Given the description of an element on the screen output the (x, y) to click on. 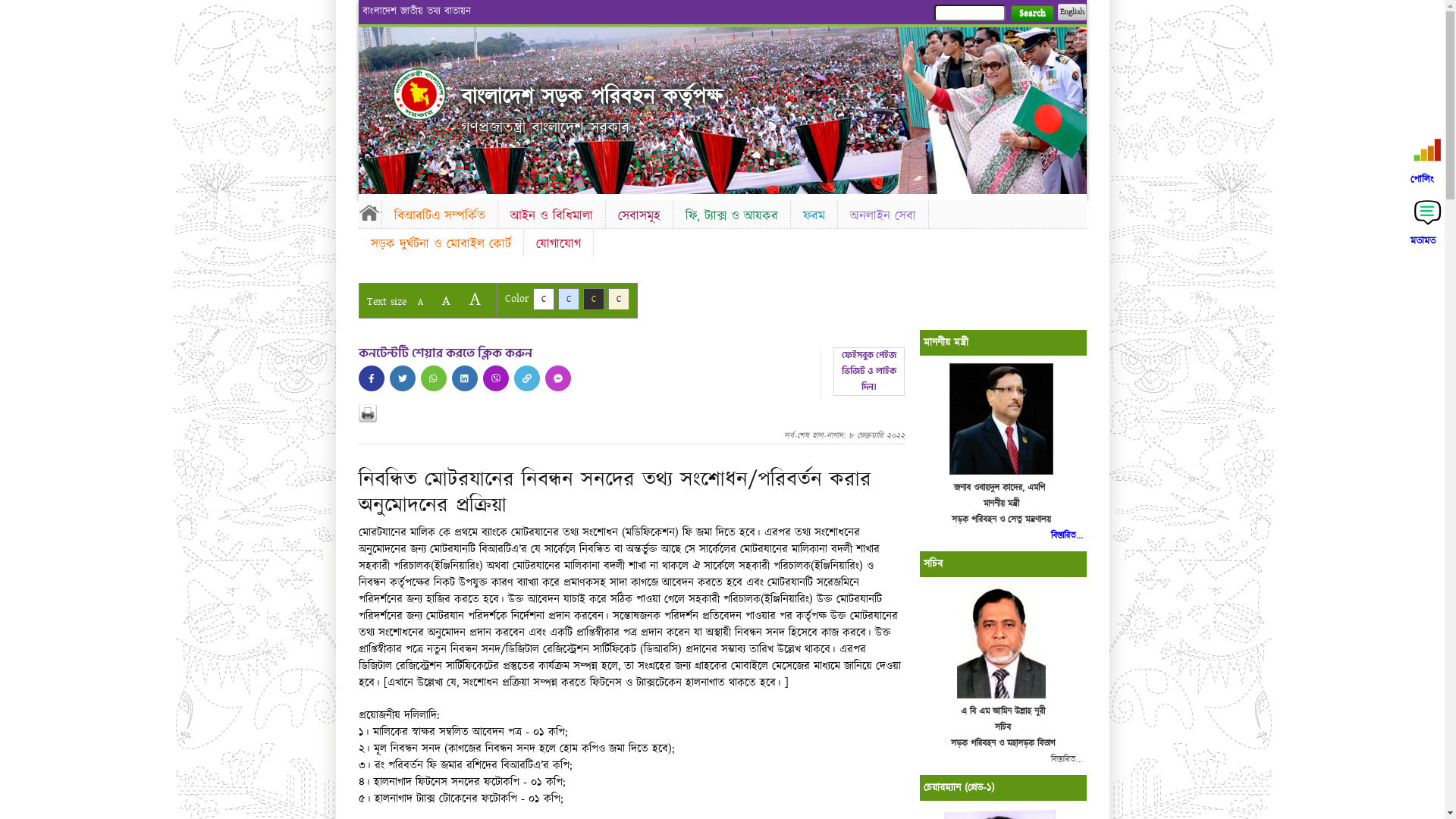
A Element type: text (474, 298)
Home Element type: hover (418, 93)
Home Element type: hover (368, 211)
C Element type: text (618, 299)
A Element type: text (419, 301)
C Element type: text (568, 299)
Search Element type: text (1031, 13)
English Element type: text (1071, 11)
A Element type: text (445, 300)
C Element type: text (592, 299)
C Element type: text (542, 299)
